Given the description of an element on the screen output the (x, y) to click on. 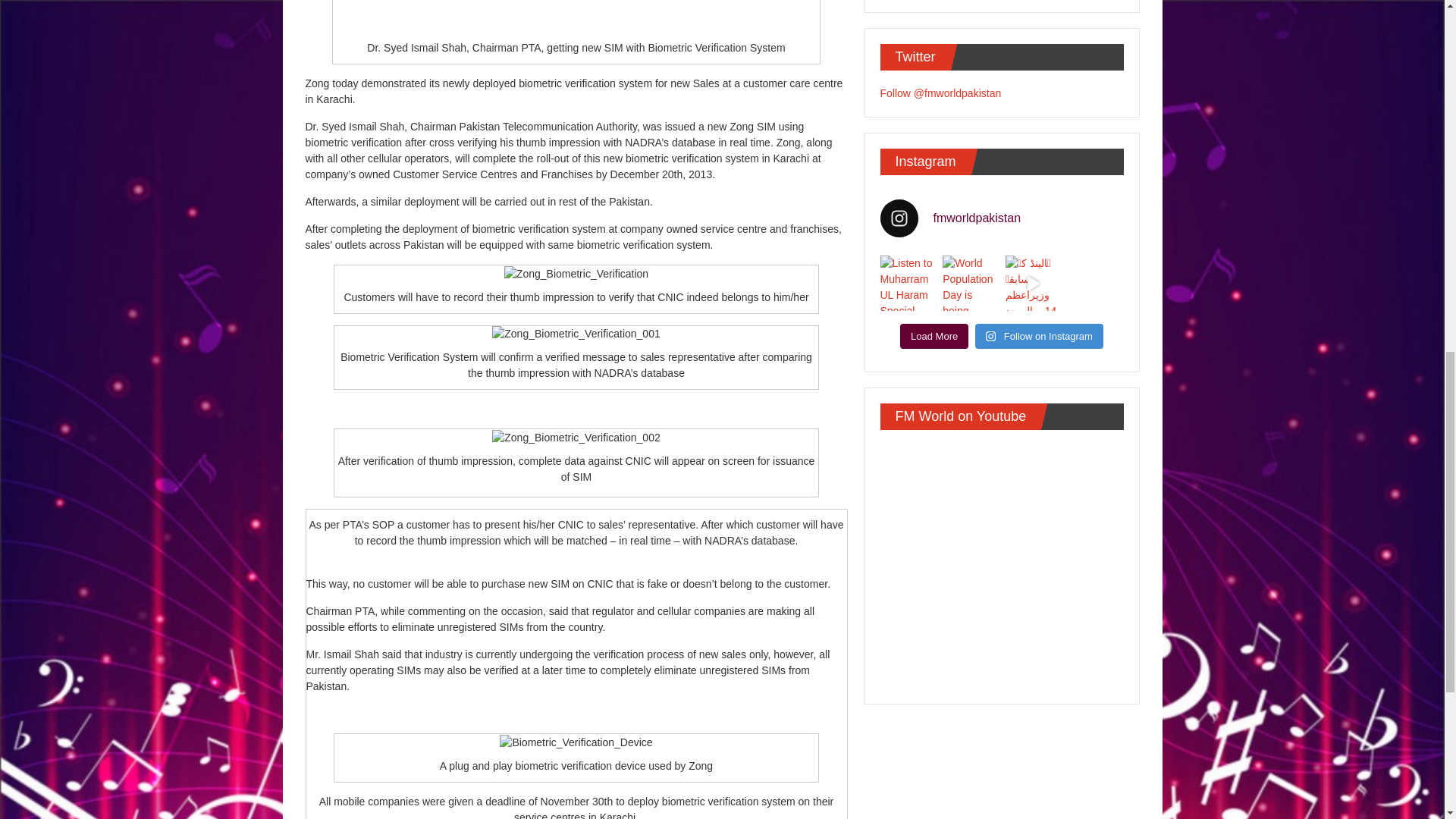
Follow on Instagram (1039, 336)
YouTube video player (1000, 564)
Load More (933, 336)
fmworldpakistan (1000, 218)
